Given the description of an element on the screen output the (x, y) to click on. 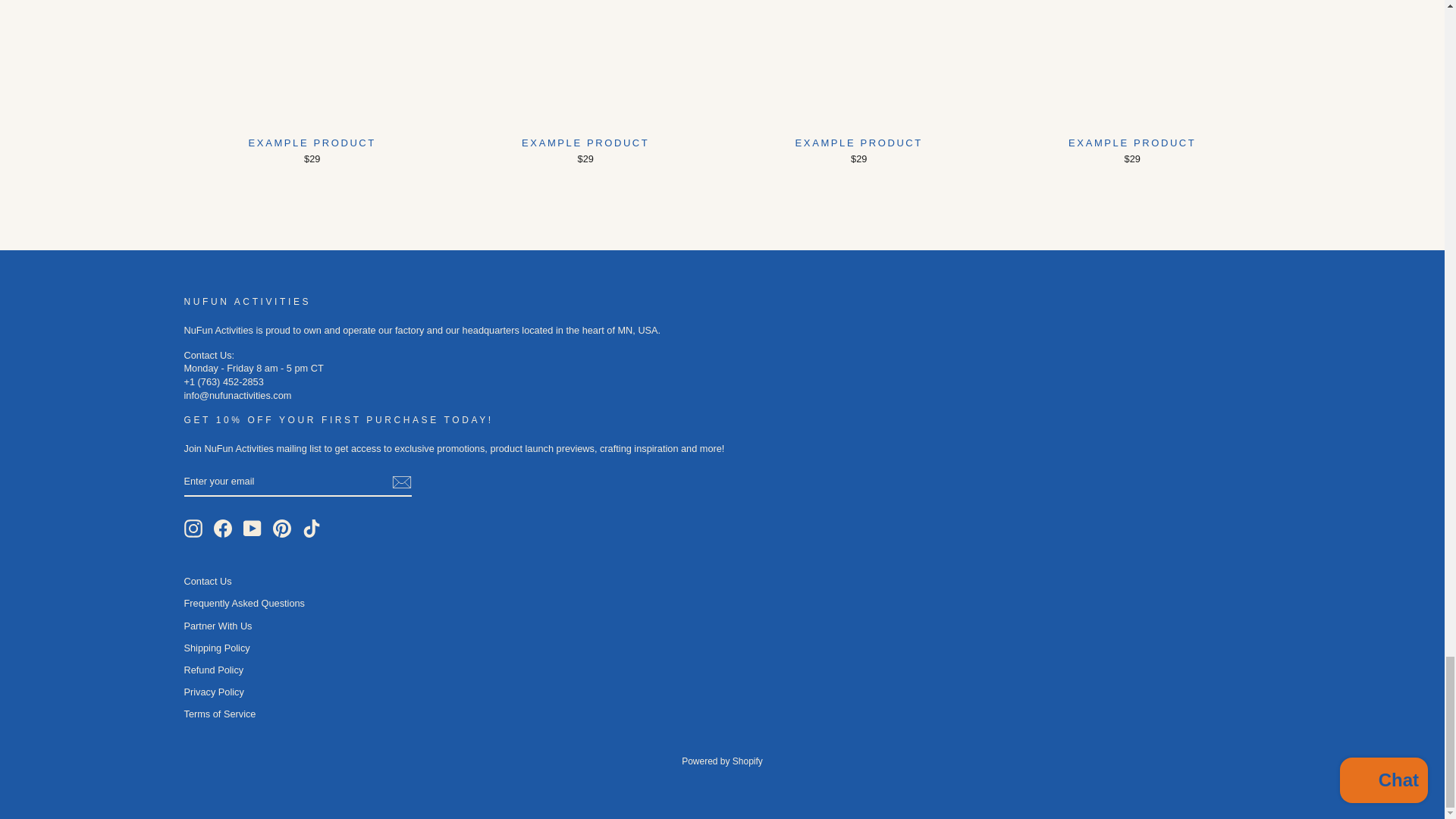
NuFun Activities on Instagram (192, 528)
